Given the description of an element on the screen output the (x, y) to click on. 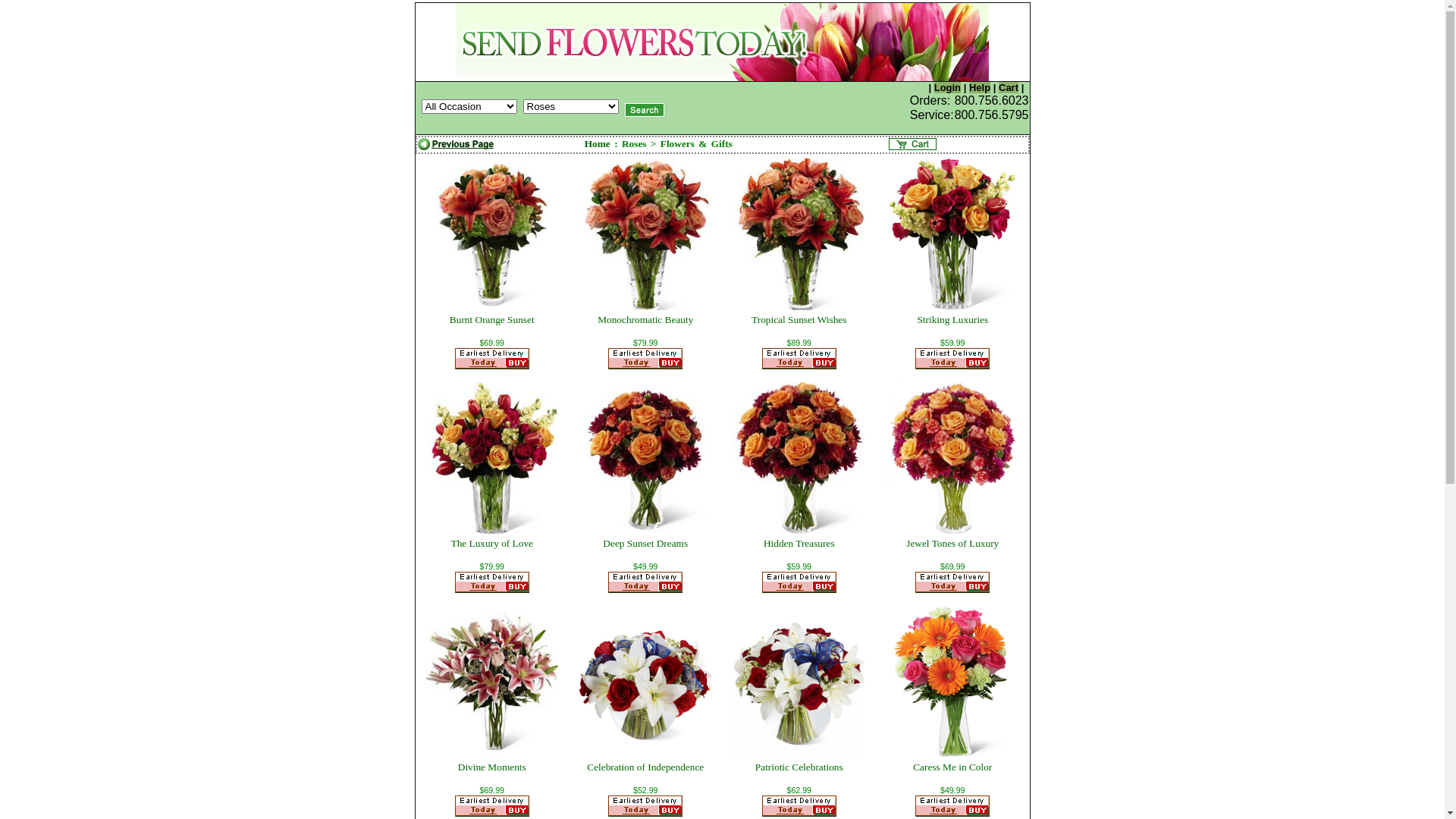
Home Element type: text (597, 143)
Tropical Sunset Wishes Element type: text (798, 319)
Patriotic Celebrations Element type: text (799, 766)
Hidden Treasures Element type: text (798, 543)
Help Element type: text (979, 87)
Celebration of Independence Element type: text (644, 766)
Caress Me in Color Element type: text (952, 766)
Striking Luxuries Element type: text (952, 319)
Monochromatic Beauty Element type: text (645, 319)
Deep Sunset Dreams Element type: text (644, 543)
Burnt Orange Sunset Element type: text (491, 319)
Divine Moments Element type: text (492, 766)
Jewel Tones of Luxury Element type: text (952, 543)
Cart Element type: text (1008, 87)
Login Element type: text (947, 87)
The Luxury of Love Element type: text (492, 543)
